Given the description of an element on the screen output the (x, y) to click on. 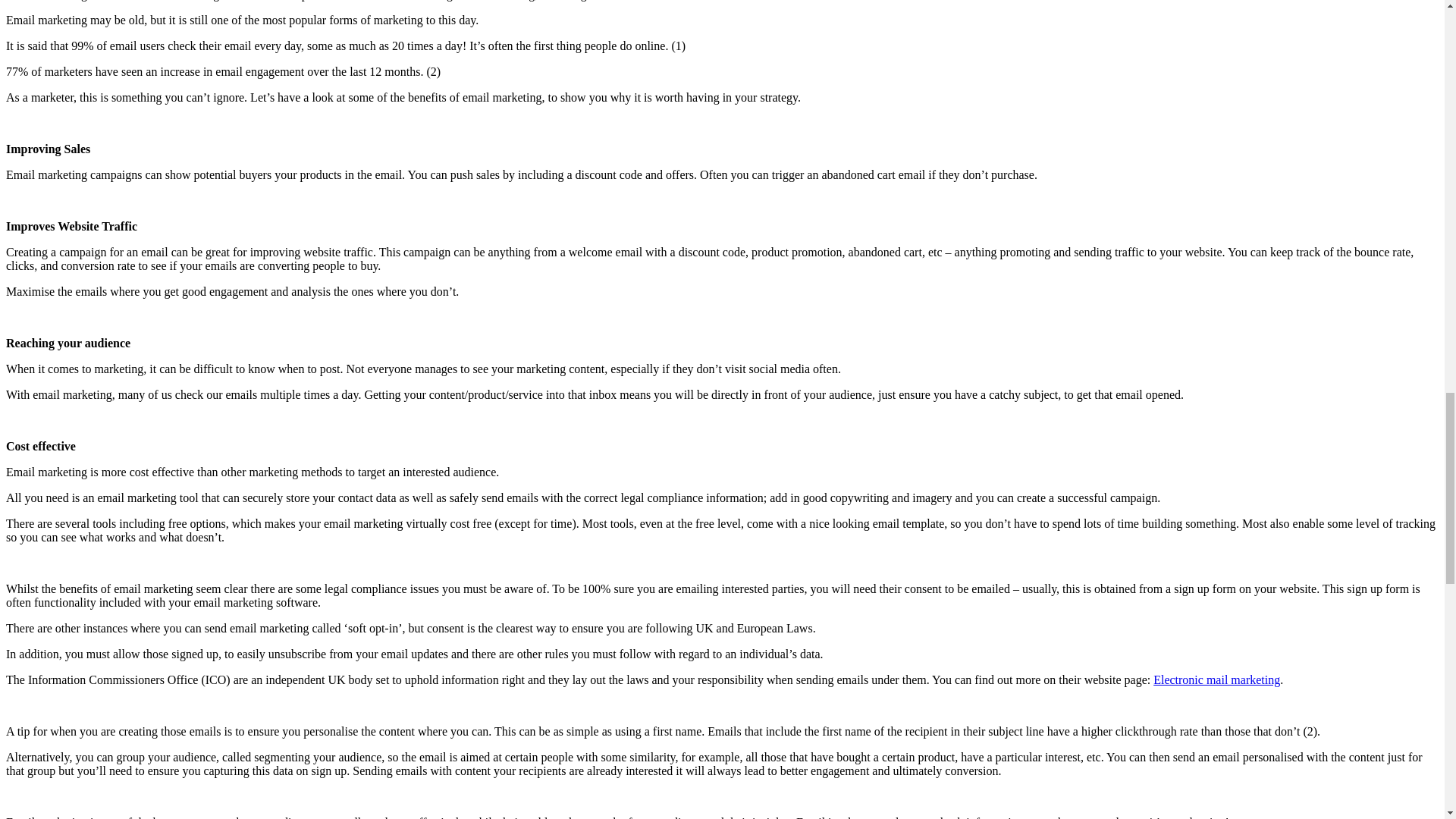
Electronic mail marketing (1216, 679)
